Given the description of an element on the screen output the (x, y) to click on. 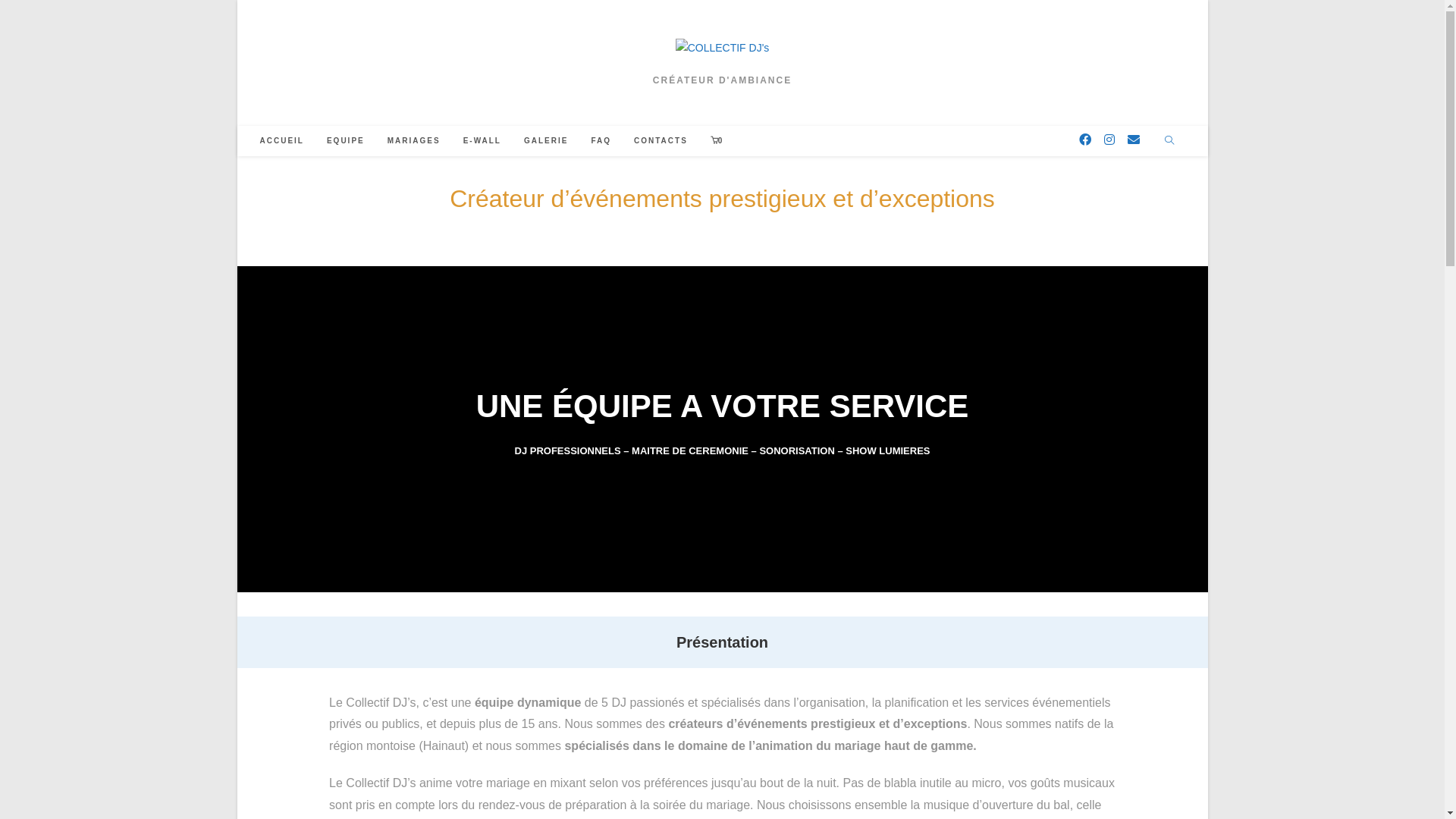
0 Element type: text (717, 140)
ACCUEIL Element type: text (281, 140)
MARIAGES Element type: text (413, 140)
CONTACTS Element type: text (660, 140)
GALERIE Element type: text (545, 140)
EQUIPE Element type: text (345, 140)
E-WALL Element type: text (481, 140)
FAQ Element type: text (600, 140)
